Given the description of an element on the screen output the (x, y) to click on. 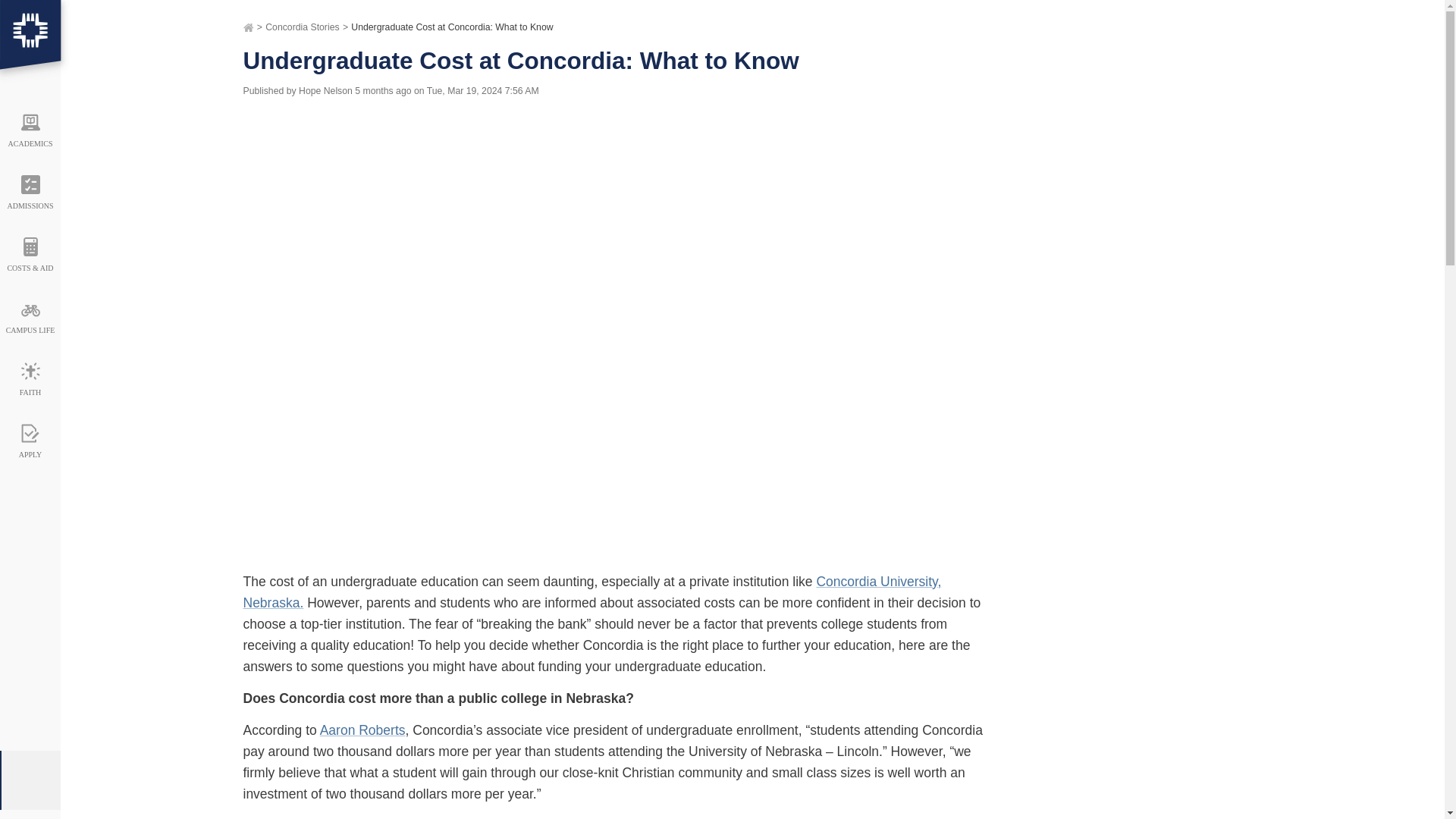
Concordia Stories (301, 28)
APPLY (30, 436)
Search (1369, 99)
Search (1369, 99)
